Given the description of an element on the screen output the (x, y) to click on. 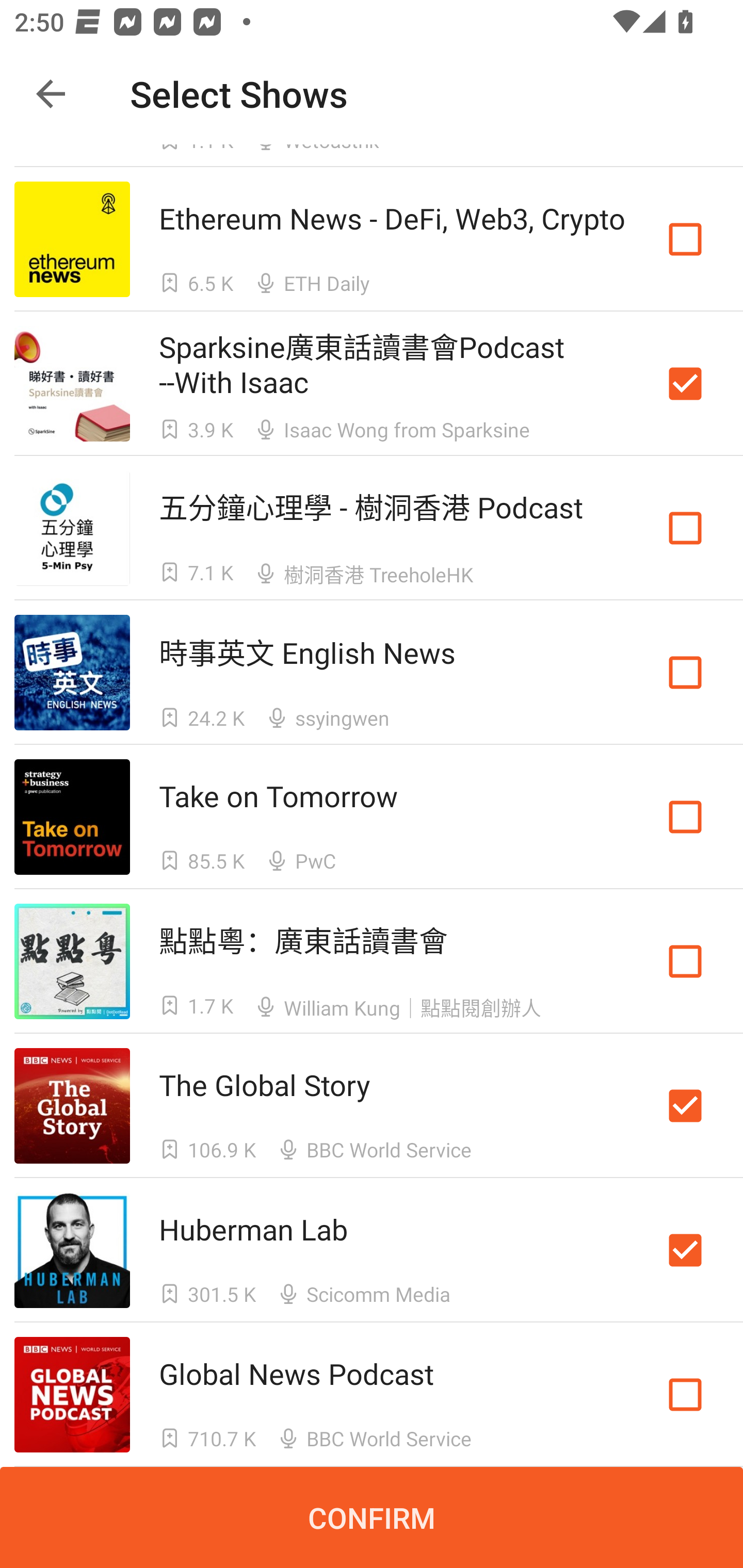
Navigate up (50, 93)
Take on Tomorrow Take on Tomorrow  85.5 K  PwC (371, 816)
CONFIRM (371, 1517)
